Given the description of an element on the screen output the (x, y) to click on. 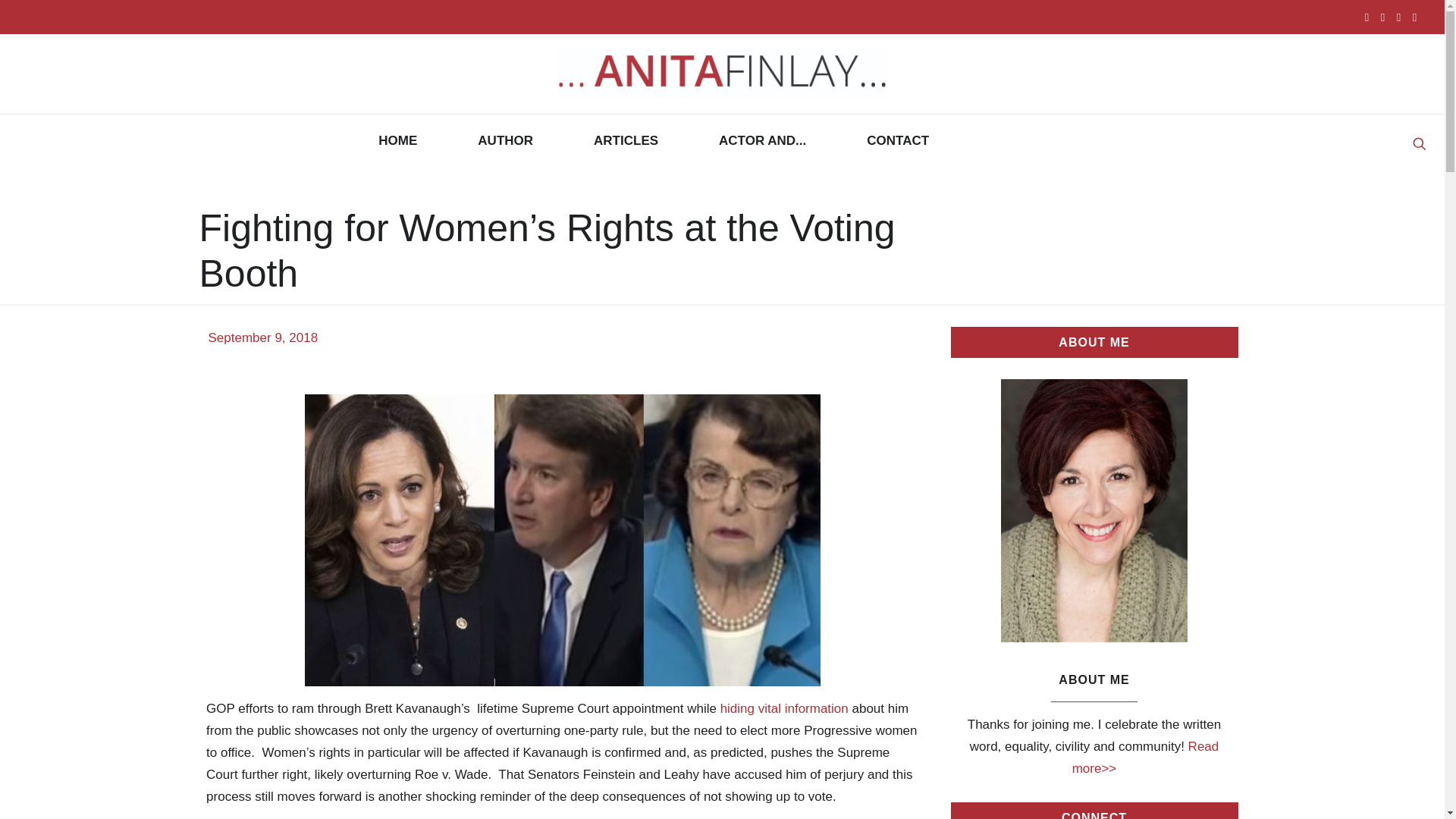
YouTube (1399, 16)
hiding vital information (784, 708)
Facebook (1367, 16)
HOME (397, 140)
Anita Finlay (722, 73)
ACTOR AND... (761, 140)
CONTACT (898, 140)
LinkedIn (1415, 16)
ARTICLES (625, 140)
AUTHOR (505, 140)
